Given the description of an element on the screen output the (x, y) to click on. 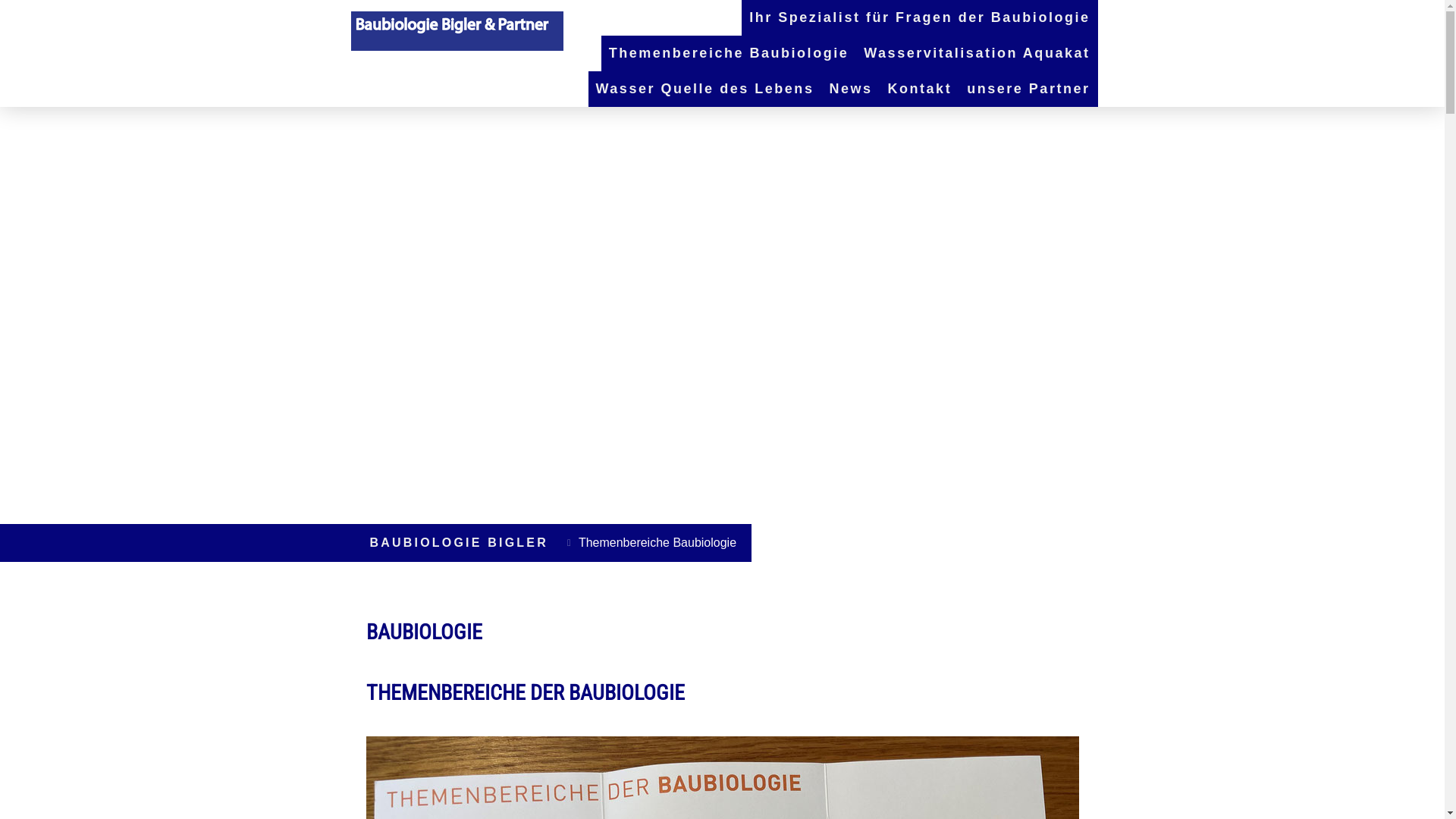
Themenbereiche Baubiologie Element type: text (653, 542)
BAUBIOLOGIE BIGLER Element type: text (459, 542)
News Element type: text (850, 88)
Kontakt Element type: text (920, 88)
Wasser Quelle des Lebens Element type: text (705, 88)
Wasservitalisation Aquakat Element type: text (976, 53)
unsere Partner Element type: text (1028, 88)
Themenbereiche Baubiologie Element type: text (728, 53)
